Given the description of an element on the screen output the (x, y) to click on. 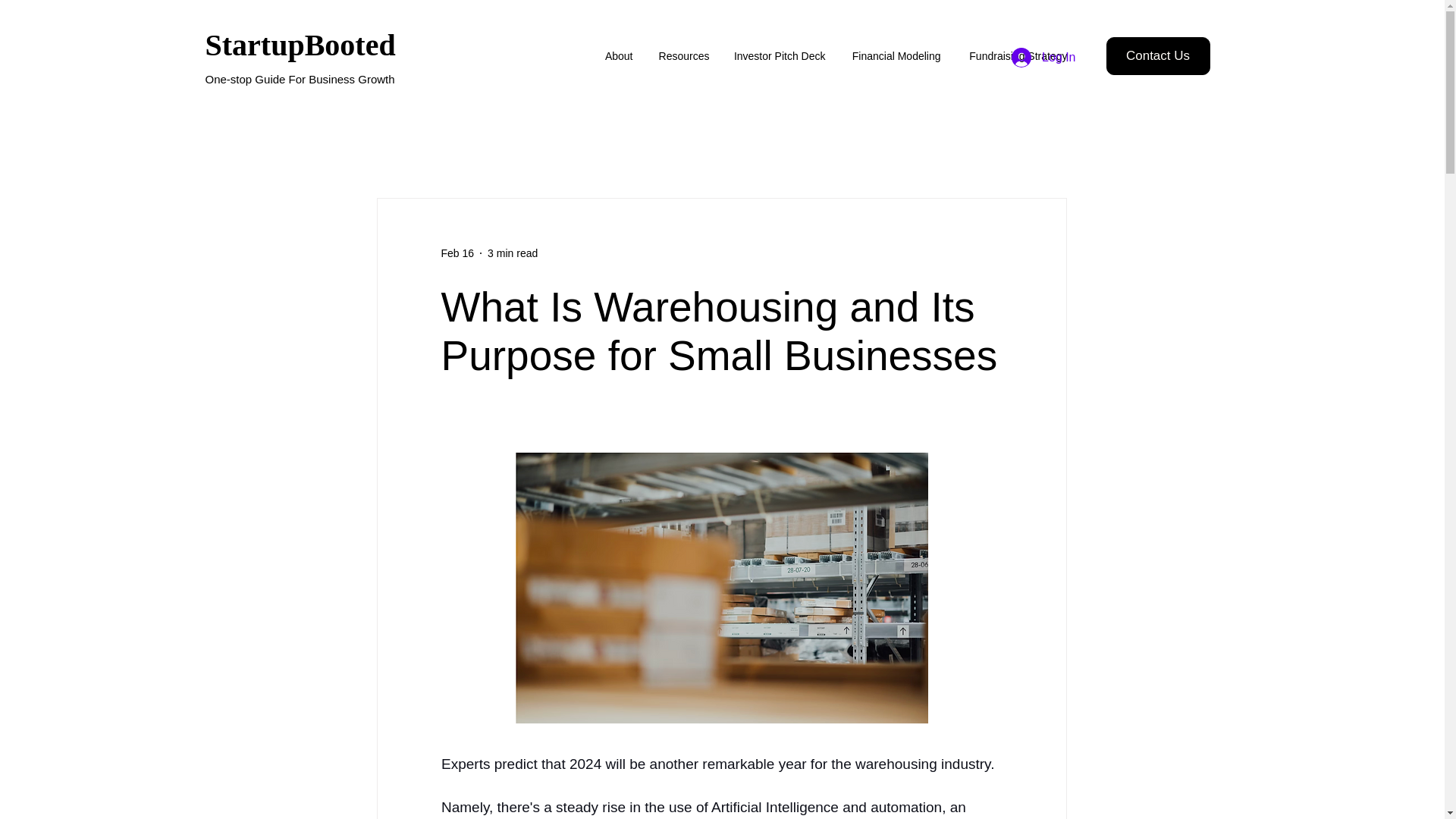
Resources (682, 55)
Investor Pitch Deck (777, 55)
Feb 16 (457, 253)
Fundraising Strategy (1015, 55)
Log In (1043, 57)
3 min read (512, 253)
One-stop Guide For Business Growth (299, 78)
Financial Modeling (894, 55)
Contact Us (1157, 55)
About (618, 55)
StartupBooted (299, 44)
